Given the description of an element on the screen output the (x, y) to click on. 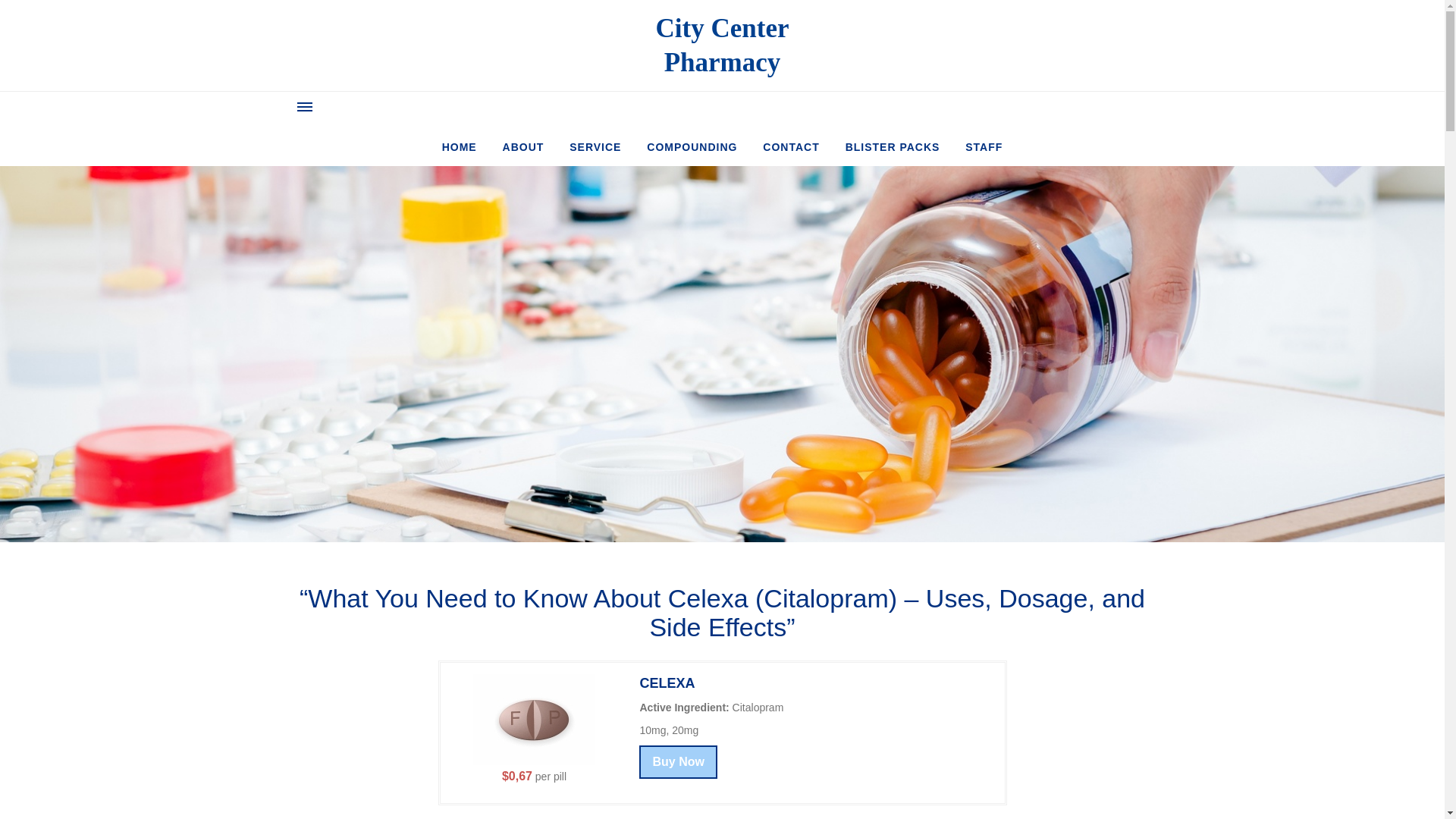
COMPOUNDING (691, 146)
Buy Now (677, 761)
STAFF (722, 44)
ABOUT (983, 146)
Menu (524, 146)
SERVICE (304, 106)
HOME (594, 146)
City Center Pharmacy (458, 146)
BLISTER PACKS (722, 44)
CONTACT (893, 146)
